Given the description of an element on the screen output the (x, y) to click on. 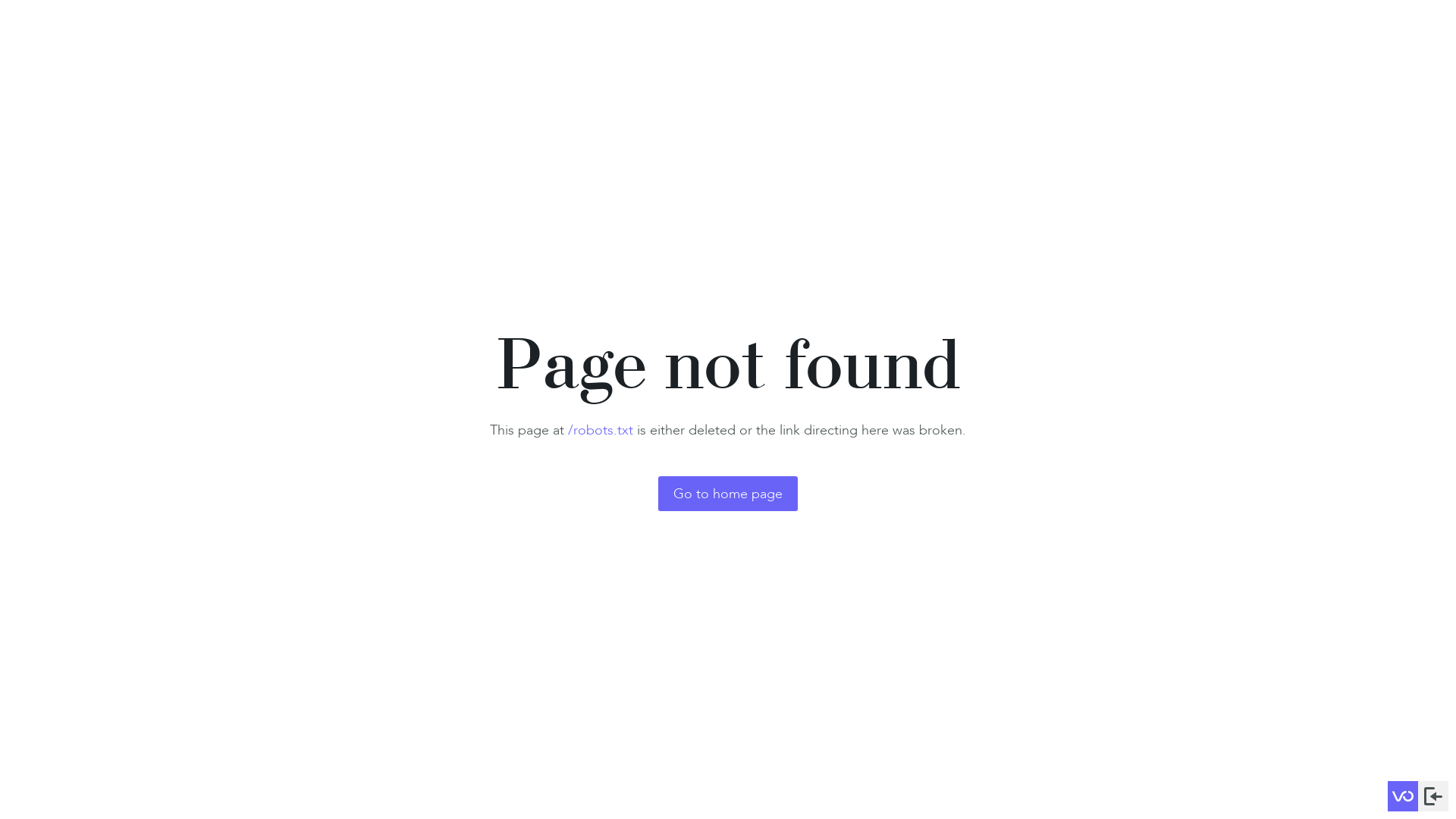
Go to home page Element type: text (727, 493)
